Given the description of an element on the screen output the (x, y) to click on. 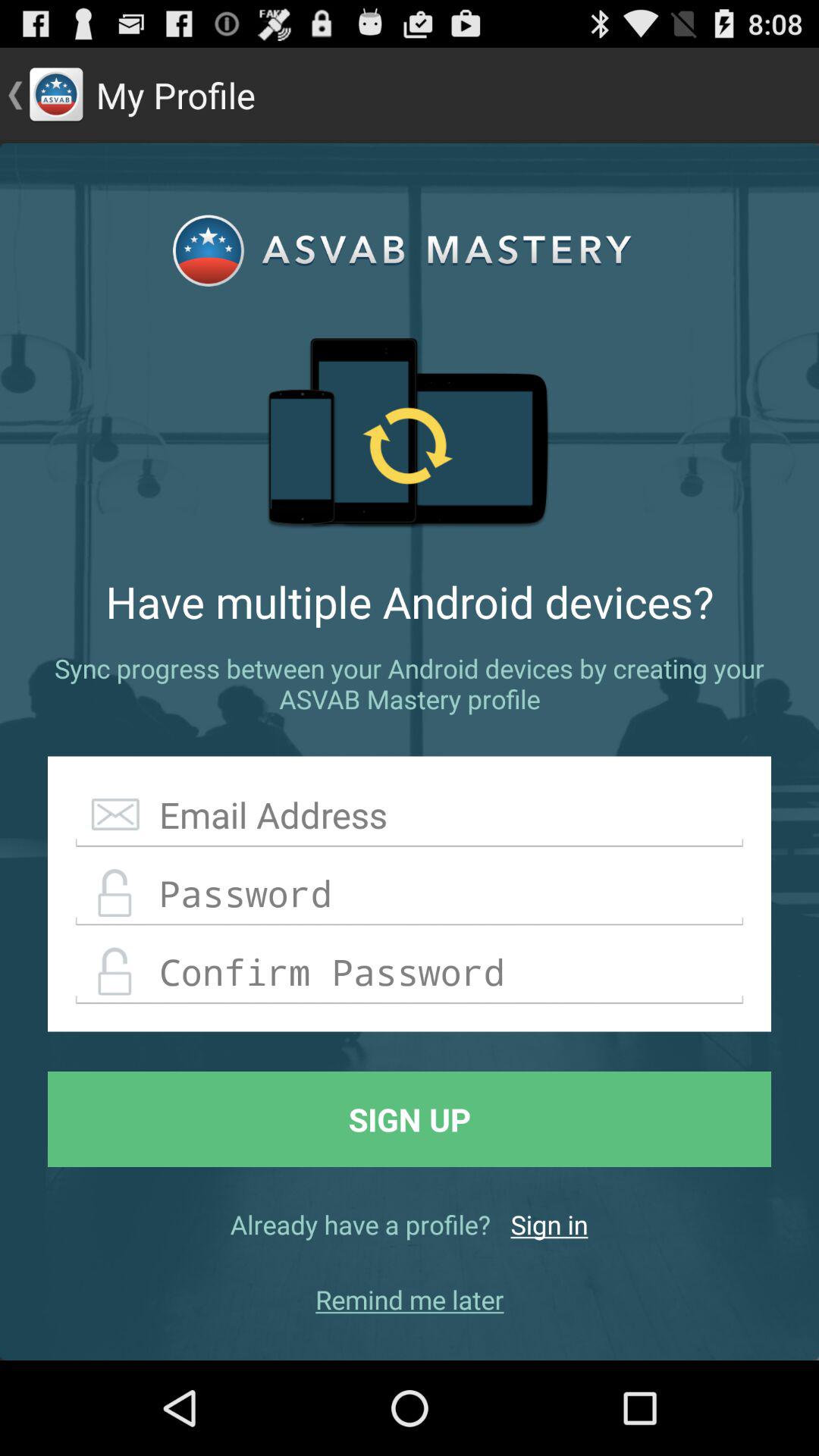
jump to sign in icon (549, 1224)
